Given the description of an element on the screen output the (x, y) to click on. 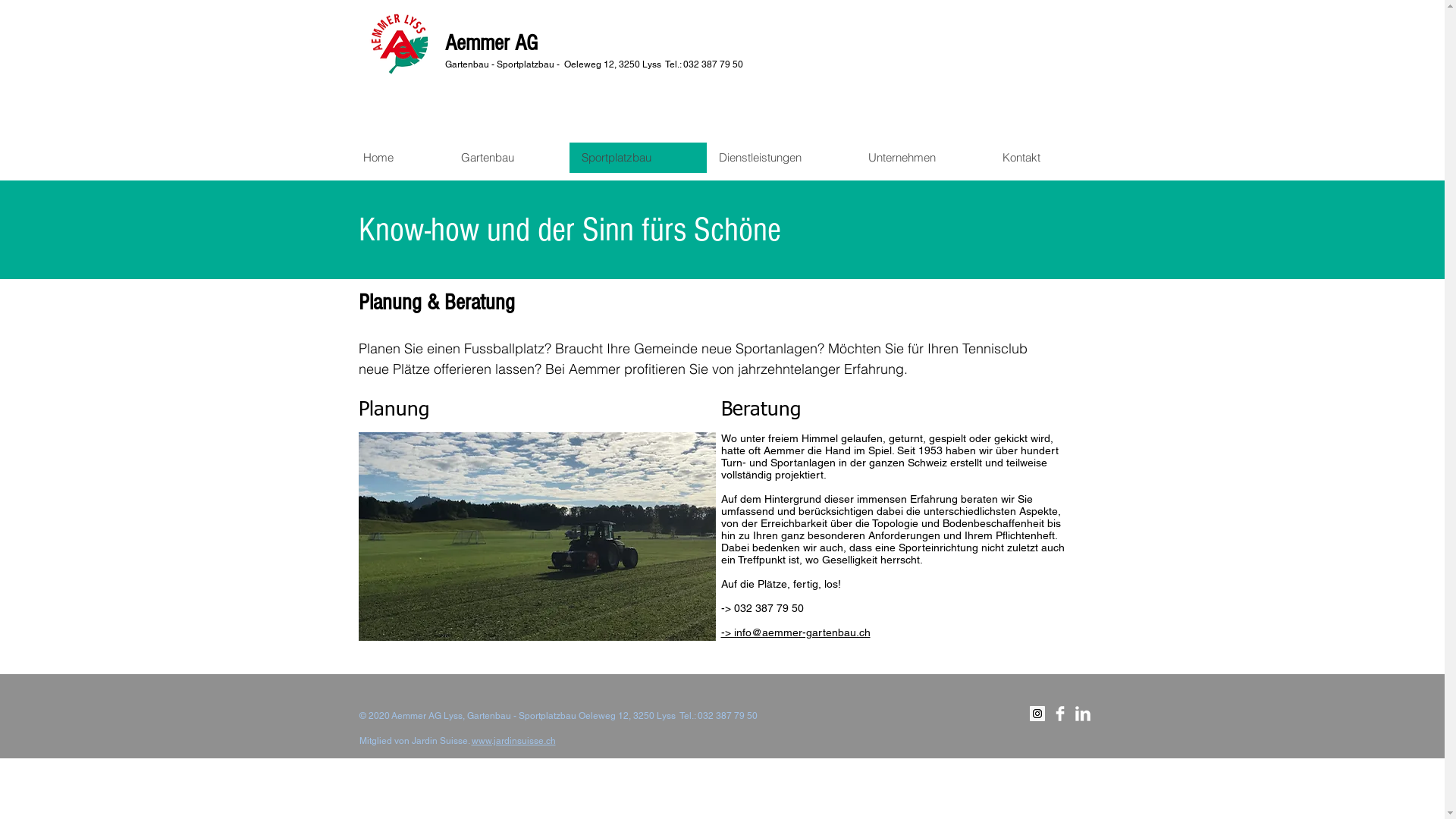
Gartenbau Element type: text (508, 157)
Aemmer AG Element type: text (490, 43)
Kontakt Element type: text (1042, 157)
Sportplatzbau Element type: text (637, 157)
Unternehmen Element type: text (922, 157)
Dienstleistungen Element type: text (781, 157)
www.jardinsuisse.ch Element type: text (513, 740)
-> info@aemmer-gartenbau.ch Element type: text (794, 632)
Home Element type: text (399, 157)
